Given the description of an element on the screen output the (x, y) to click on. 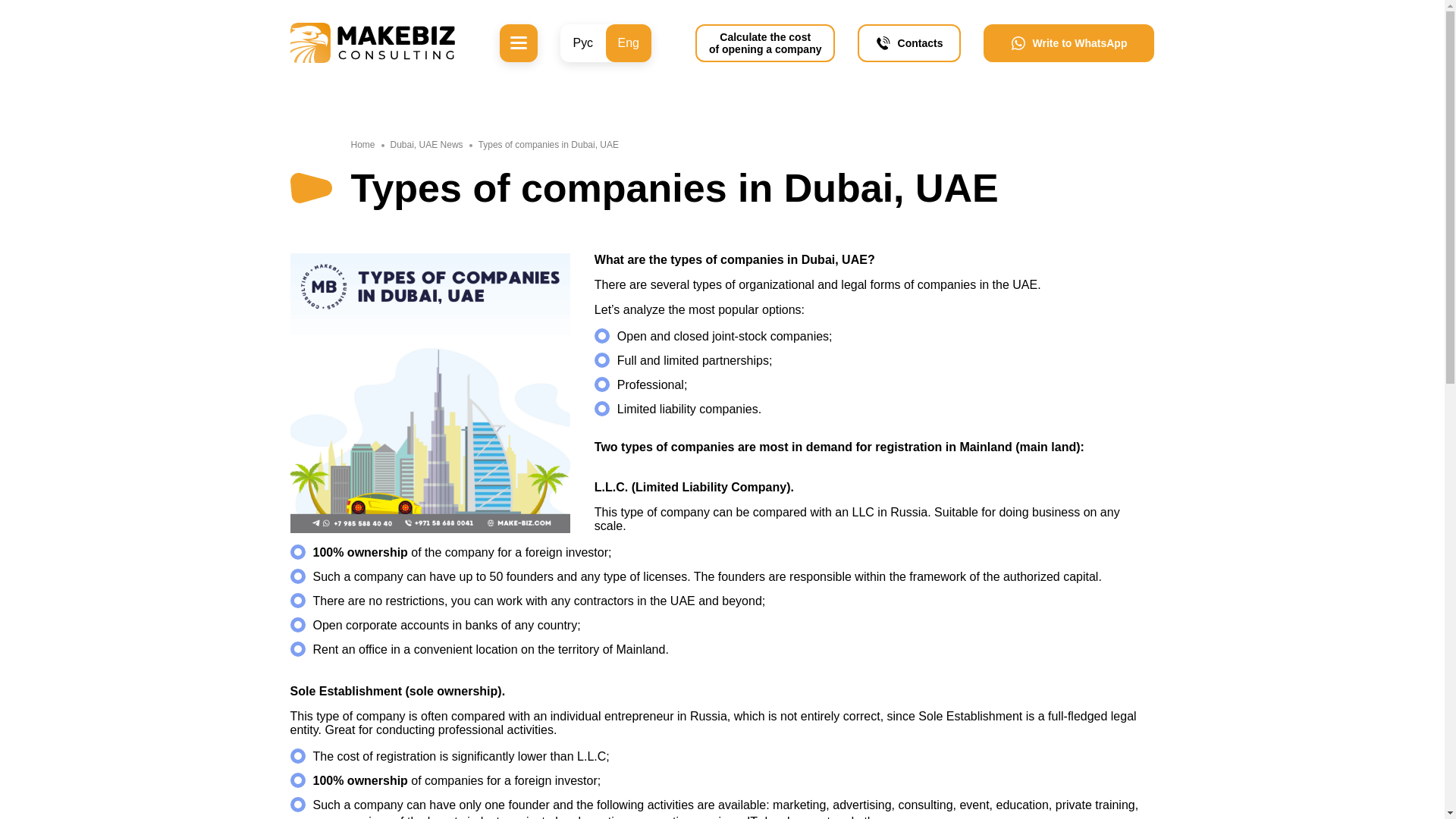
Dubai, UAE News (426, 144)
Home (362, 144)
Eng (627, 43)
Contacts (908, 43)
Write to WhatsApp (765, 43)
